Given the description of an element on the screen output the (x, y) to click on. 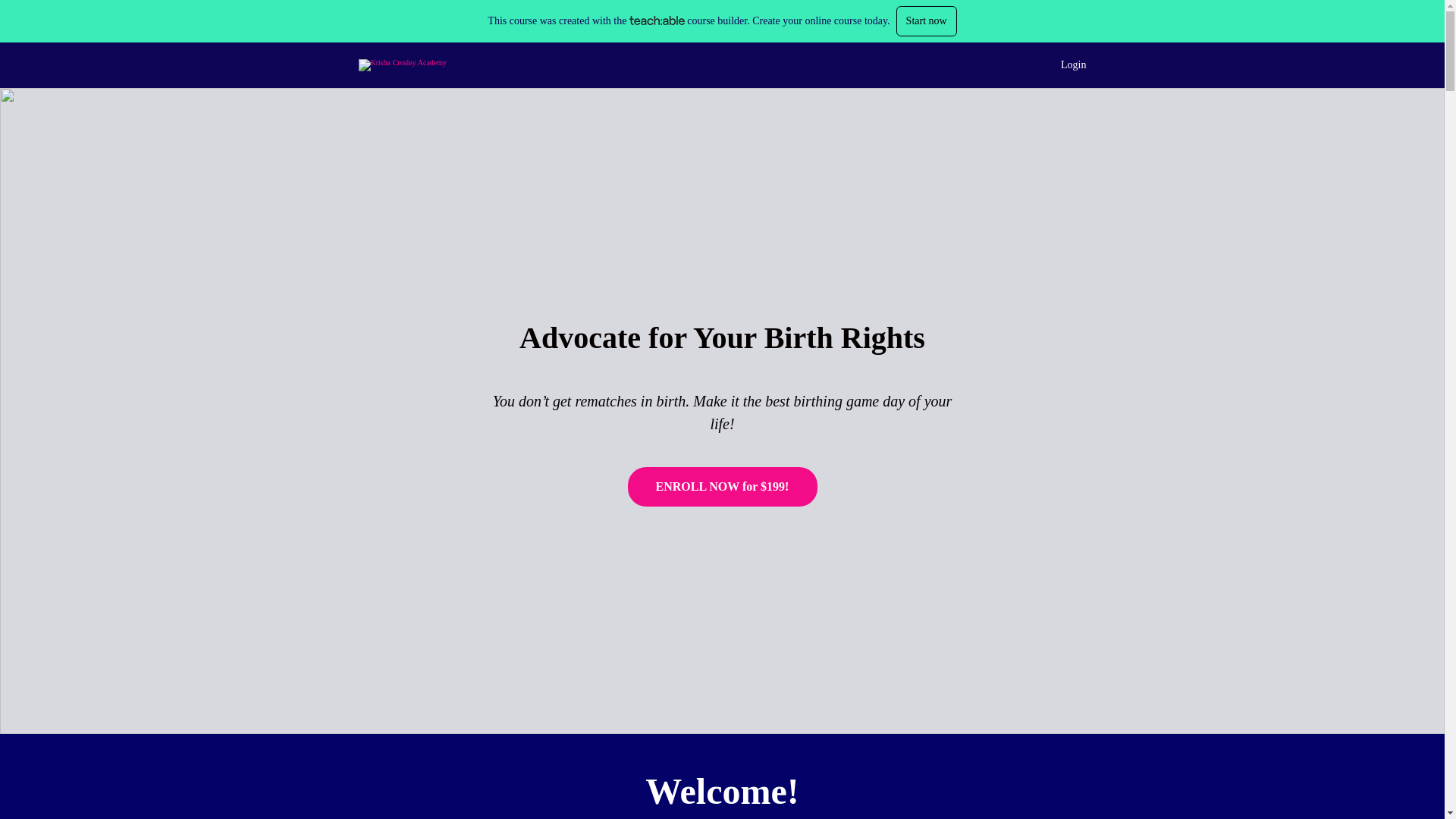
Login (1073, 64)
Start now (926, 20)
teachable.com (656, 19)
